Given the description of an element on the screen output the (x, y) to click on. 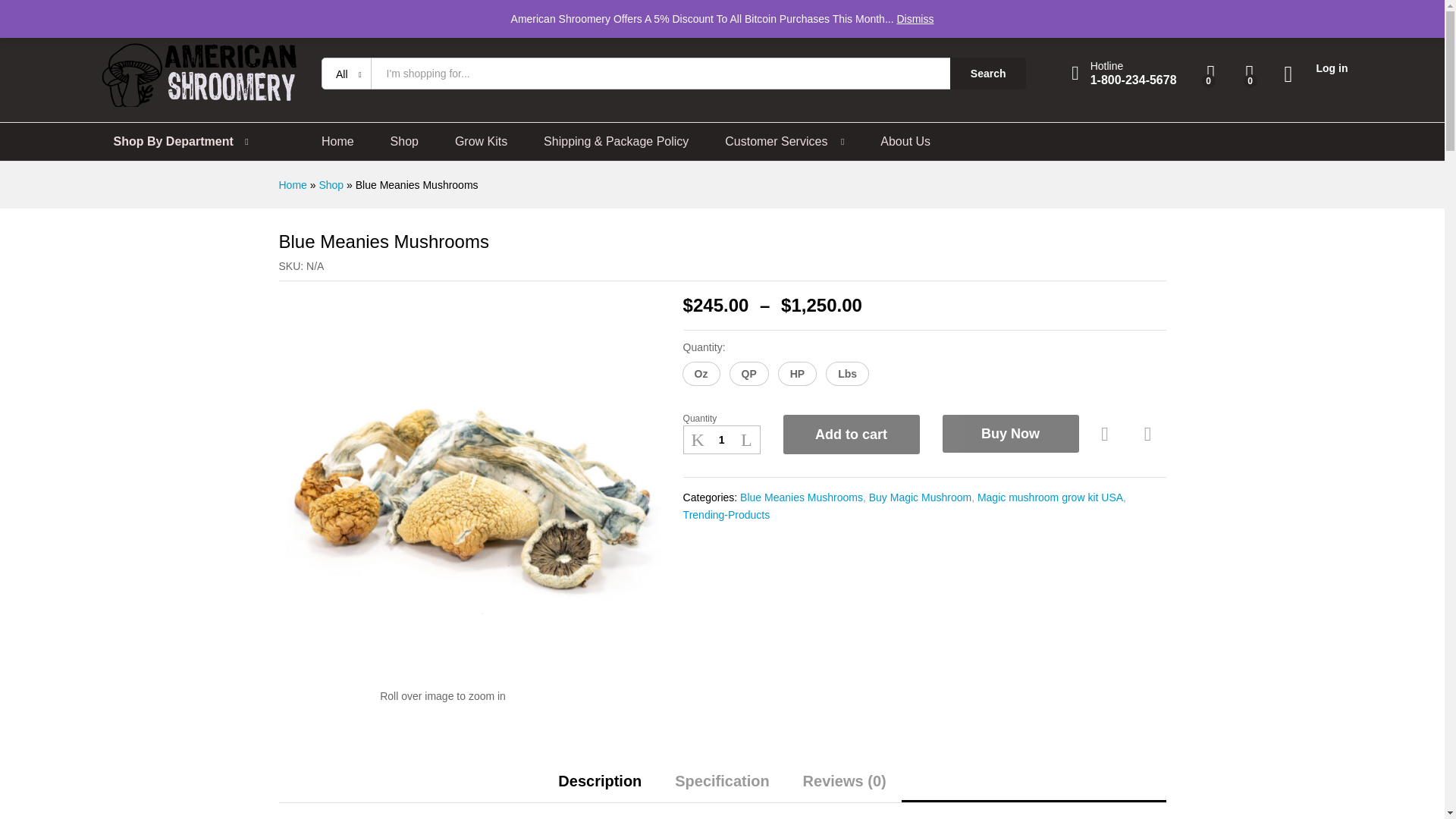
Search (988, 73)
Add to wishlist (1106, 434)
1 (721, 439)
Qty (721, 439)
Log in (1316, 68)
Compare (1147, 434)
